Given the description of an element on the screen output the (x, y) to click on. 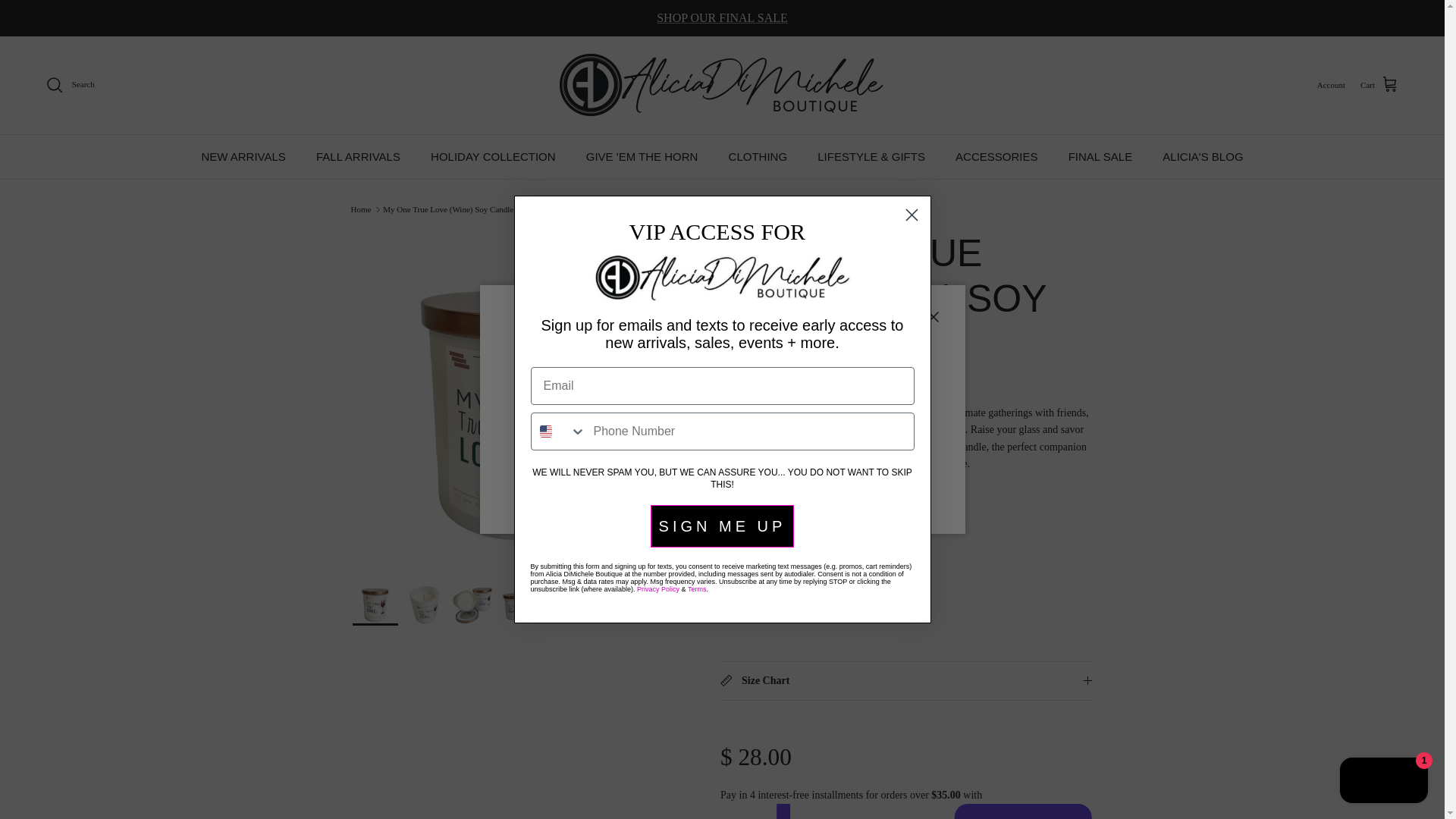
Shopify online store chat (1383, 781)
United States (545, 431)
Alicia DiMichele Boutique (721, 84)
CLOTHING (758, 157)
HOLIDAY COLLECTION (492, 157)
SHOP OUR FINAL SALE (721, 17)
Account (1331, 85)
FALL ARRIVALS (357, 157)
GIVE 'EM THE HORN (641, 157)
Cart (1379, 85)
Final Sale (721, 17)
Close dialog 1 (911, 214)
NEW ARRIVALS (242, 157)
Search (69, 85)
